Given the description of an element on the screen output the (x, y) to click on. 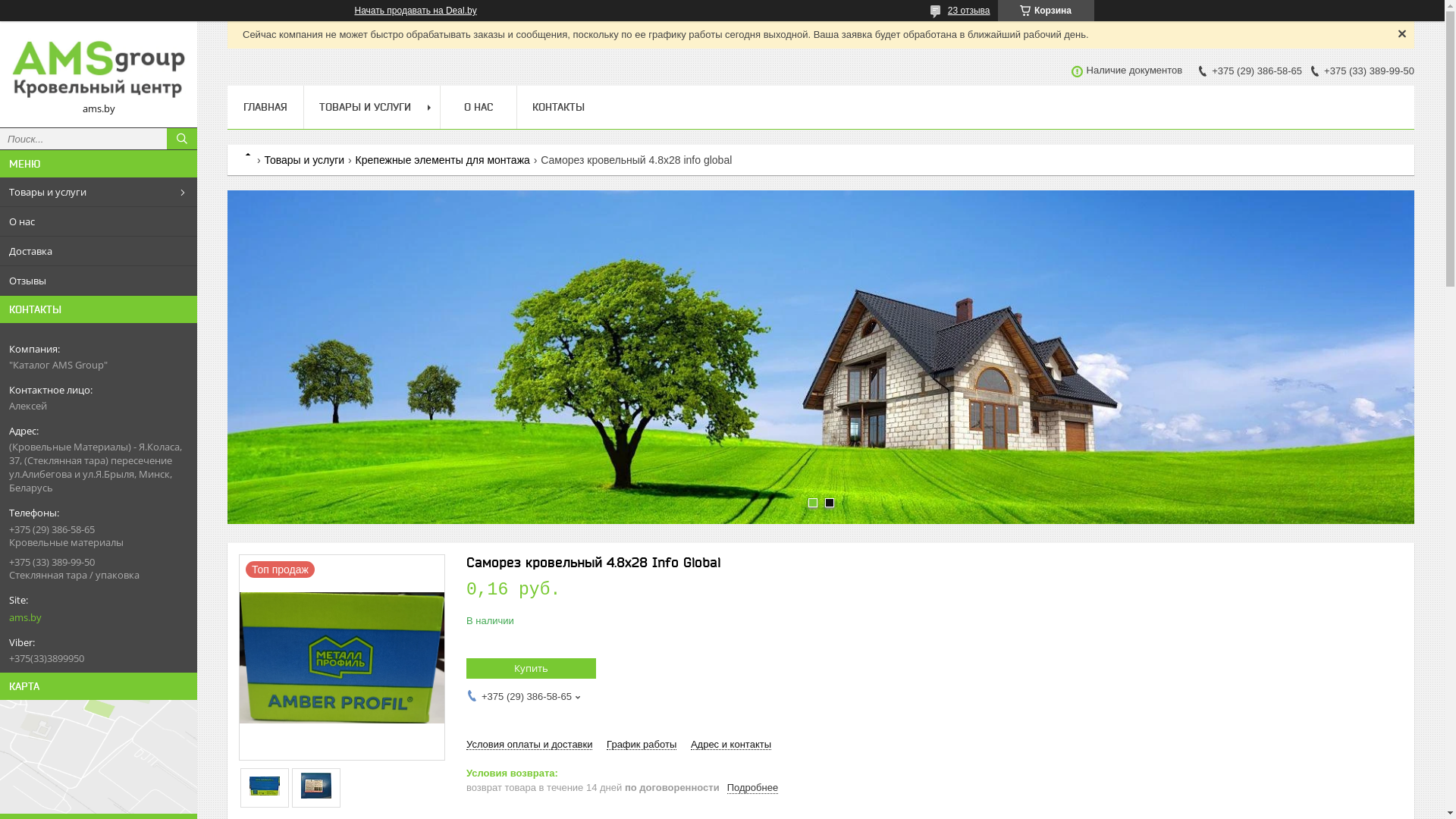
ams.by Element type: text (92, 617)
